Given the description of an element on the screen output the (x, y) to click on. 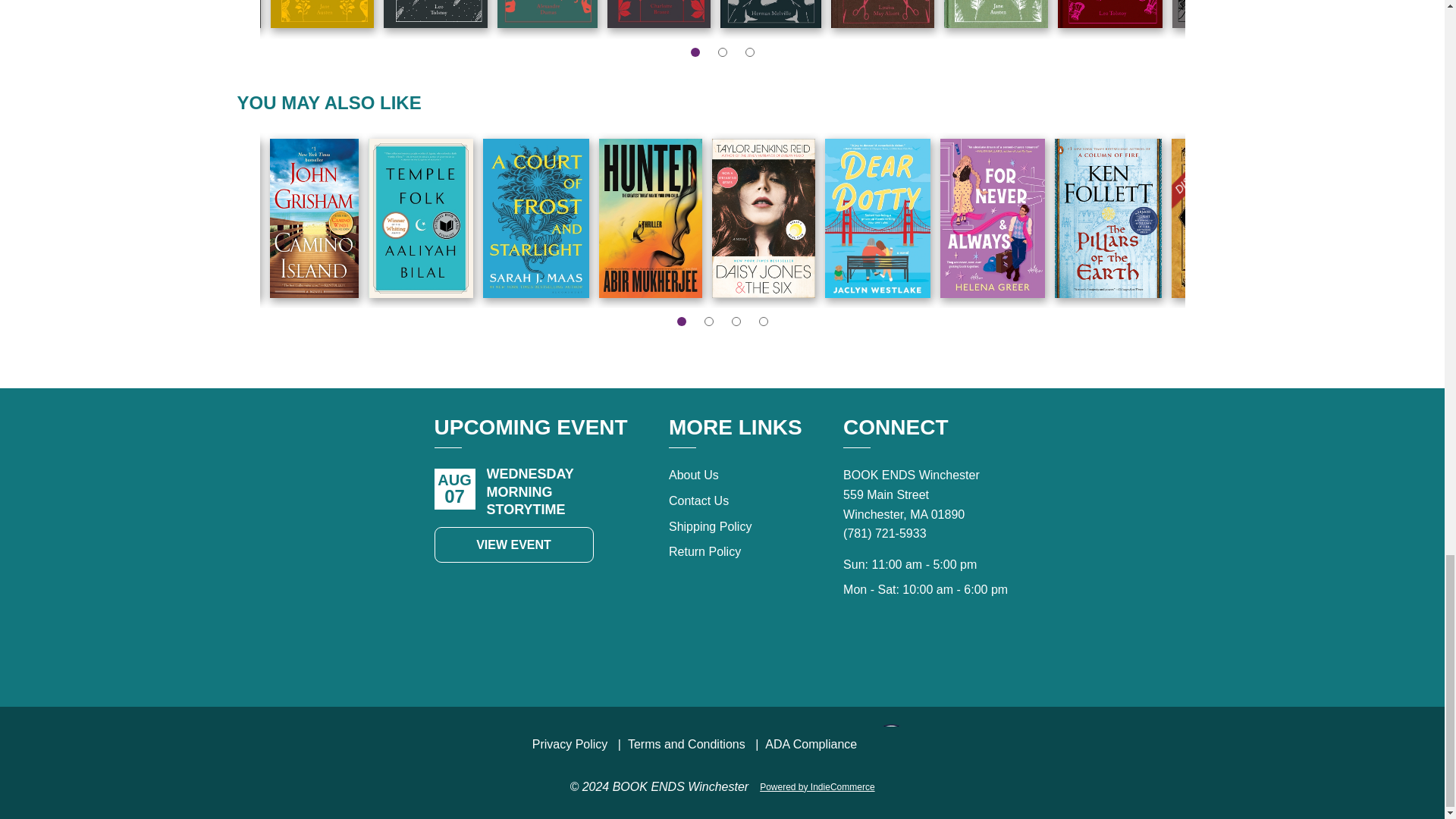
Connect with Facebook (926, 653)
Connect with Instagram (959, 653)
Connect with Tik Tok (892, 653)
